Given the description of an element on the screen output the (x, y) to click on. 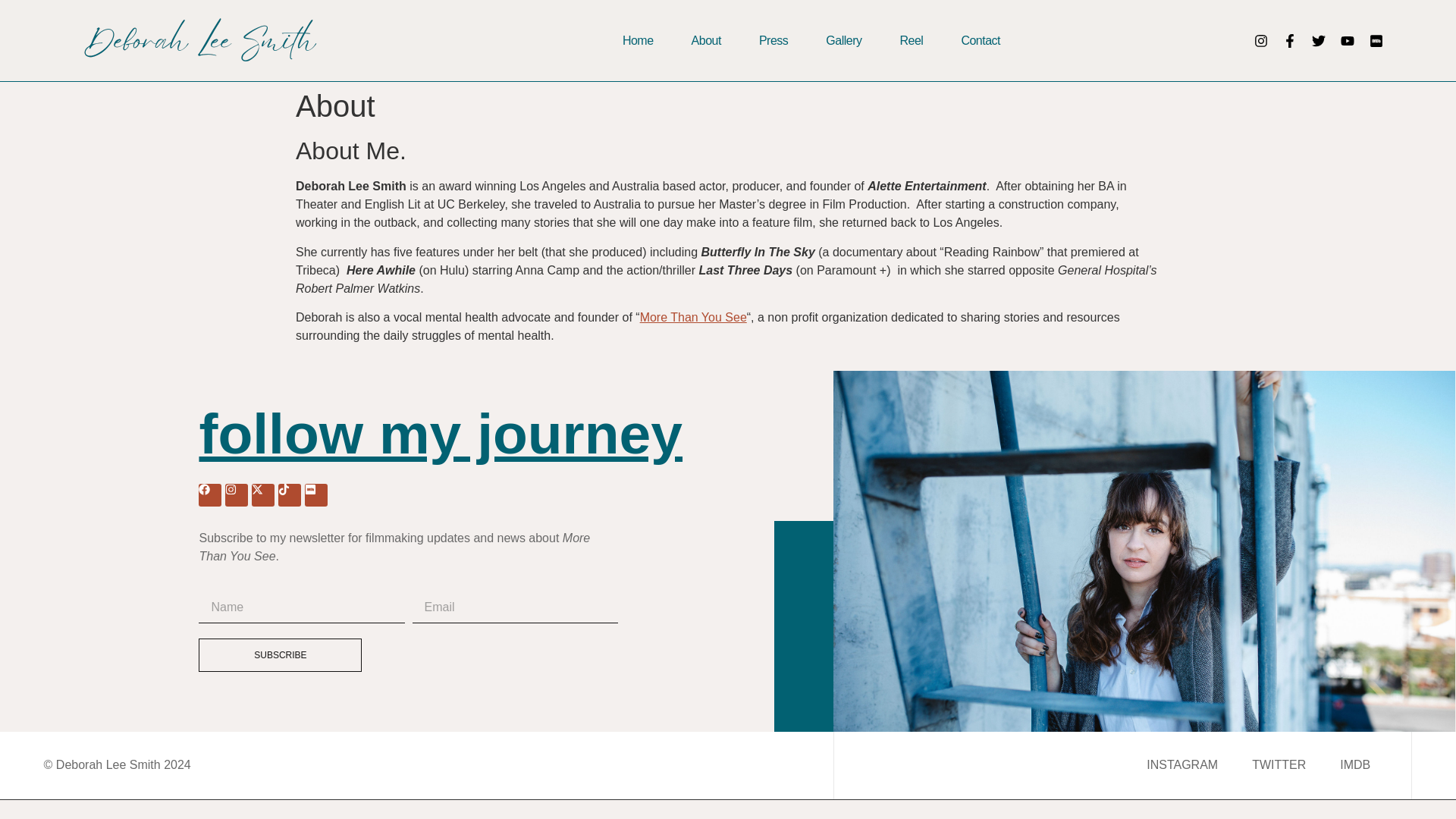
TWITTER (1279, 764)
Press (772, 40)
Gallery (843, 40)
IMDB (1354, 764)
Contact (980, 40)
Reel (911, 40)
More Than You See (693, 317)
About (705, 40)
Home (638, 40)
SUBSCRIBE (279, 654)
INSTAGRAM (1182, 764)
